Given the description of an element on the screen output the (x, y) to click on. 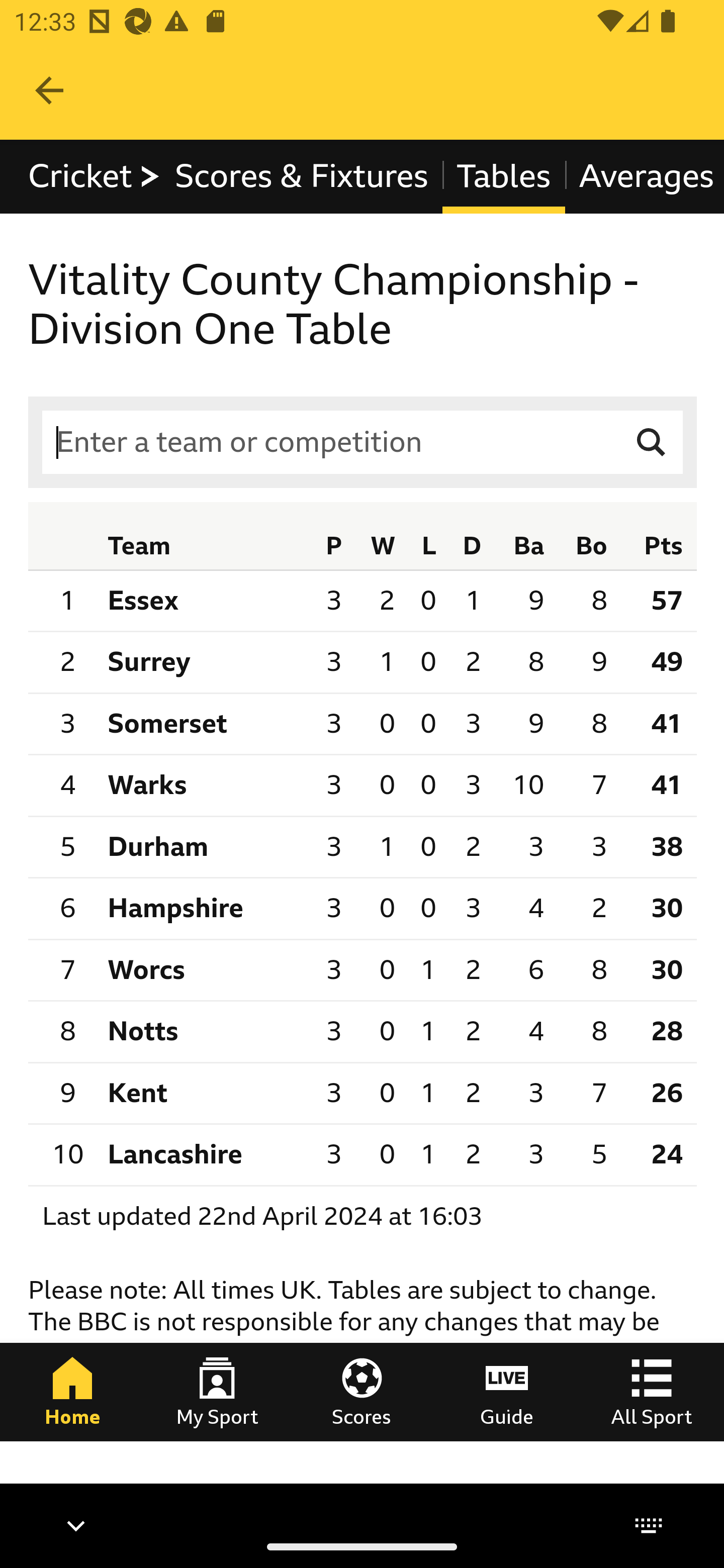
Navigate up (49, 90)
Cricket  (95, 176)
Scores & Fixtures (301, 176)
Tables (503, 176)
Averages (643, 176)
Search (651, 442)
Essex (203, 600)
Surrey (203, 661)
Somerset (203, 723)
Warks Warwickshire (203, 785)
Durham (203, 846)
Hampshire (203, 908)
Worcs Worcestershire (203, 969)
Notts Nottinghamshire (203, 1031)
Kent (203, 1092)
Lancashire (203, 1153)
My Sport (216, 1391)
Scores (361, 1391)
Guide (506, 1391)
All Sport (651, 1391)
